Given the description of an element on the screen output the (x, y) to click on. 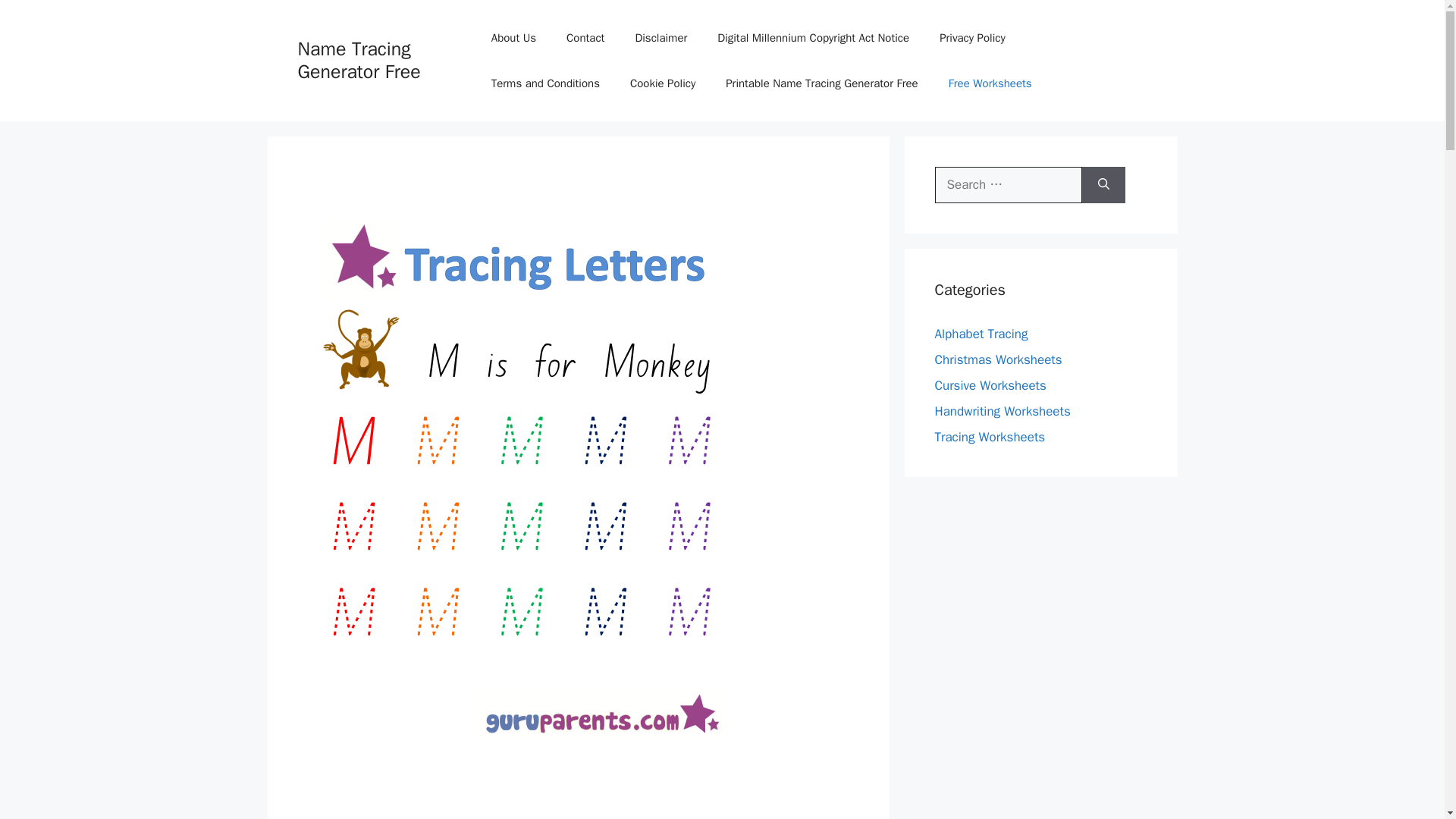
Cookie Policy (662, 83)
Search for: (1007, 185)
Disclaimer (660, 37)
Digital Millennium Copyright Act Notice (812, 37)
Name Tracing Generator Free (358, 59)
Contact (585, 37)
Handwriting Worksheets (1002, 411)
Terms and Conditions (545, 83)
About Us (513, 37)
Christmas Worksheets (997, 359)
